Given the description of an element on the screen output the (x, y) to click on. 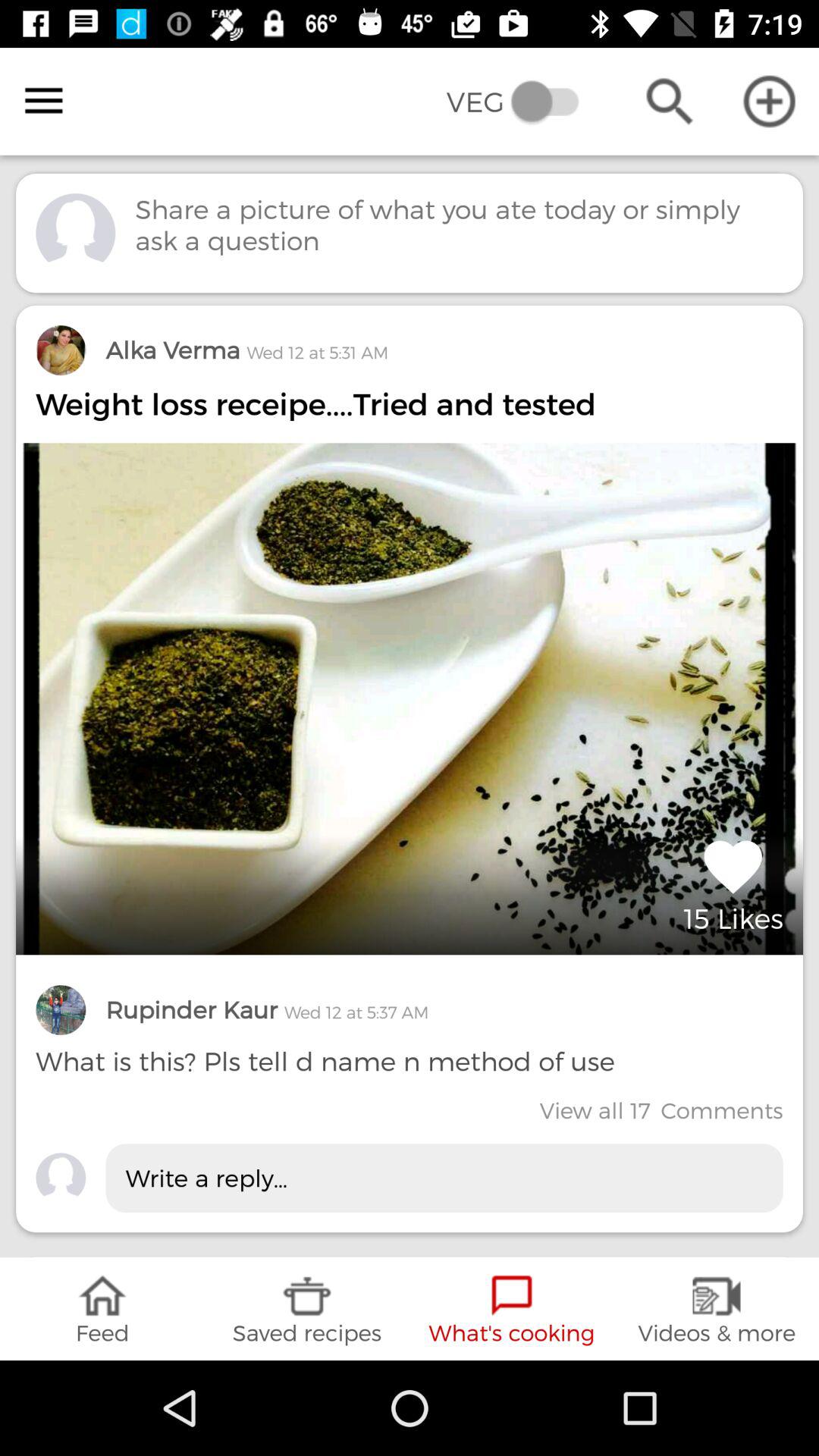
open feed item (102, 1308)
